Given the description of an element on the screen output the (x, y) to click on. 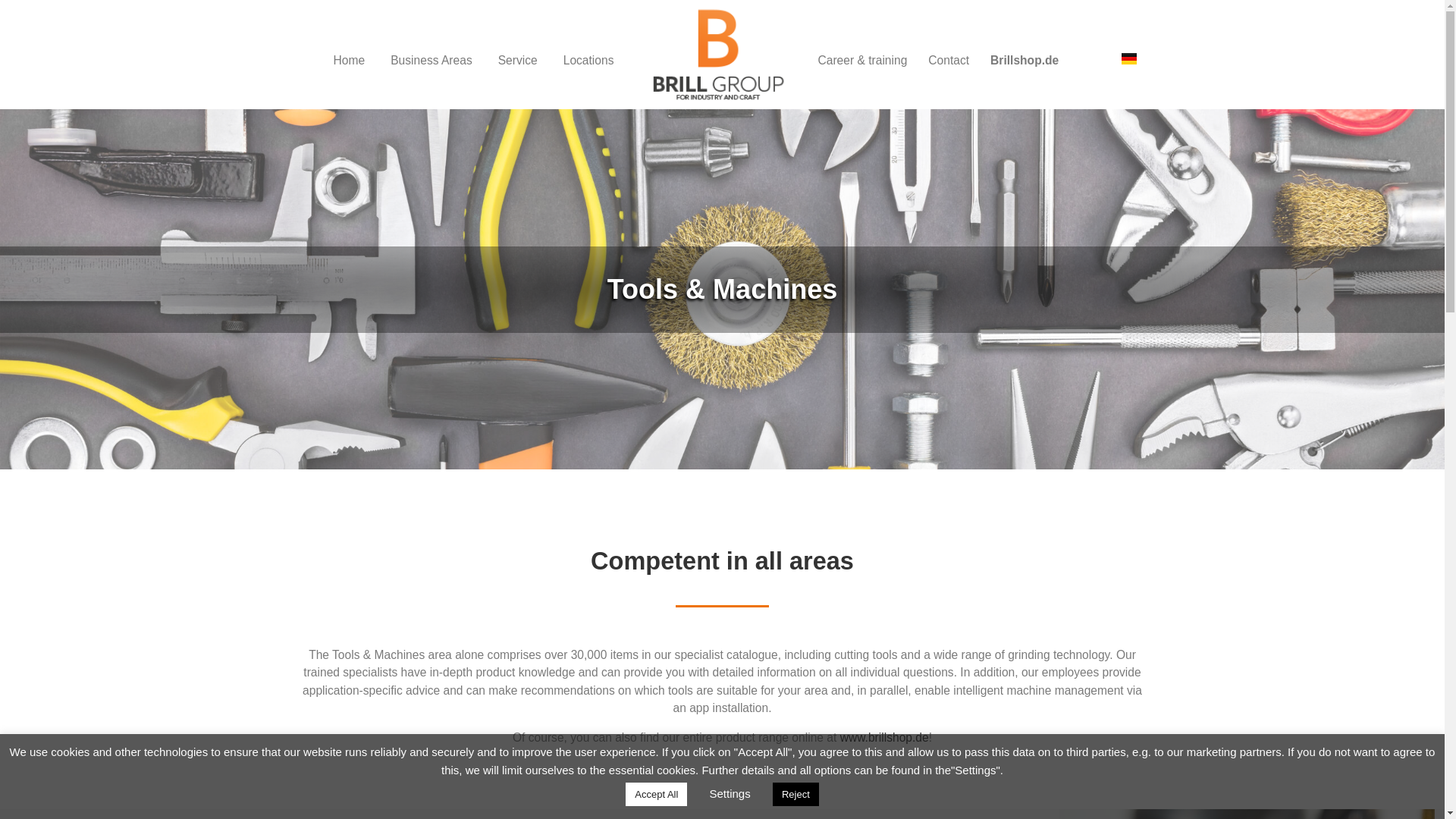
Service (517, 60)
Locations (588, 60)
Business Areas (430, 60)
Home (349, 60)
